Given the description of an element on the screen output the (x, y) to click on. 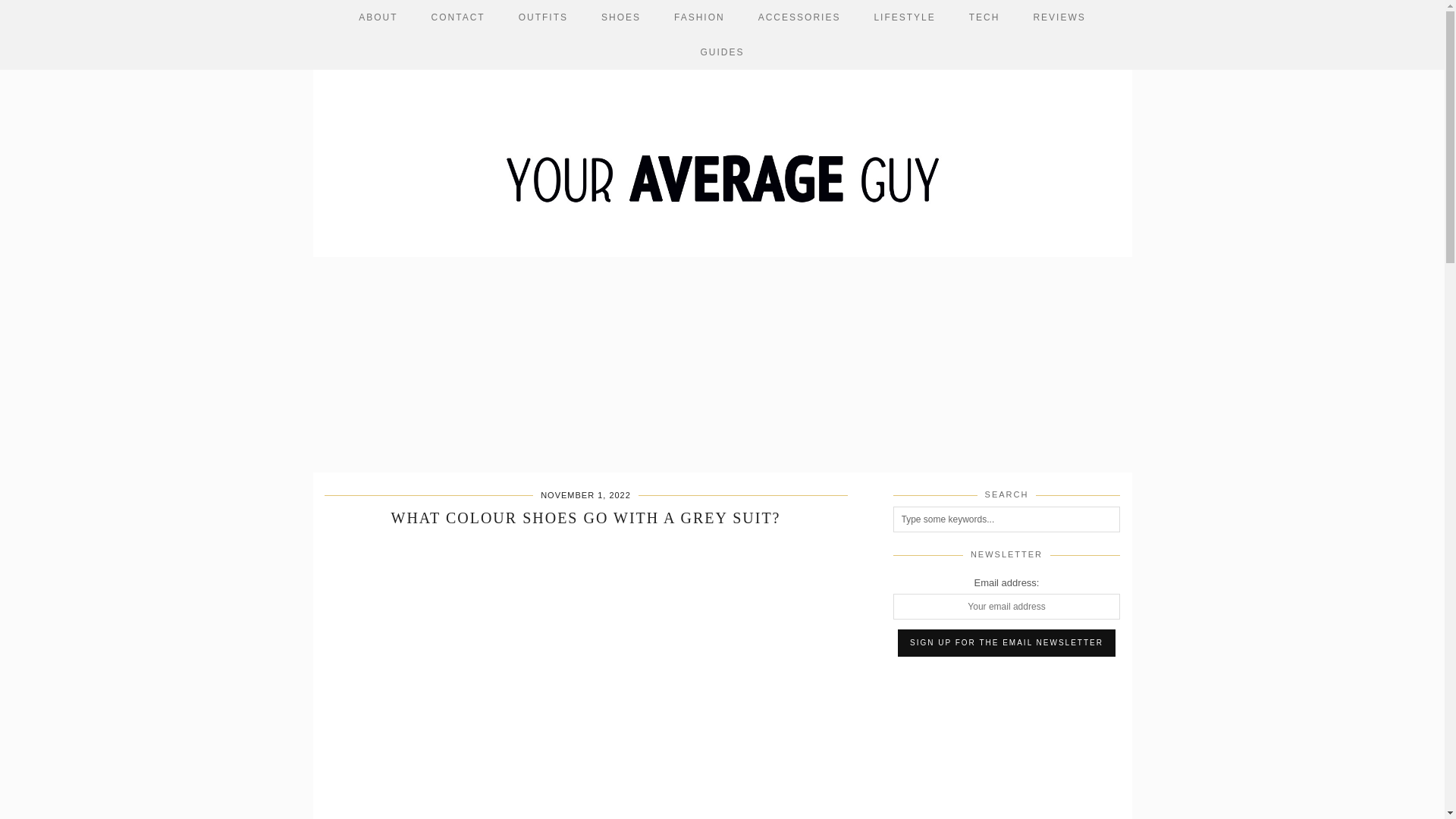
CONTACT (458, 17)
GUIDES (721, 52)
Search for: (1007, 519)
ABOUT (377, 17)
OUTFITS (543, 17)
TECH (984, 17)
Sign up for the email newsletter (1006, 642)
LIFESTYLE (904, 17)
Sign up for the email newsletter (1006, 642)
FASHION (699, 17)
